Given the description of an element on the screen output the (x, y) to click on. 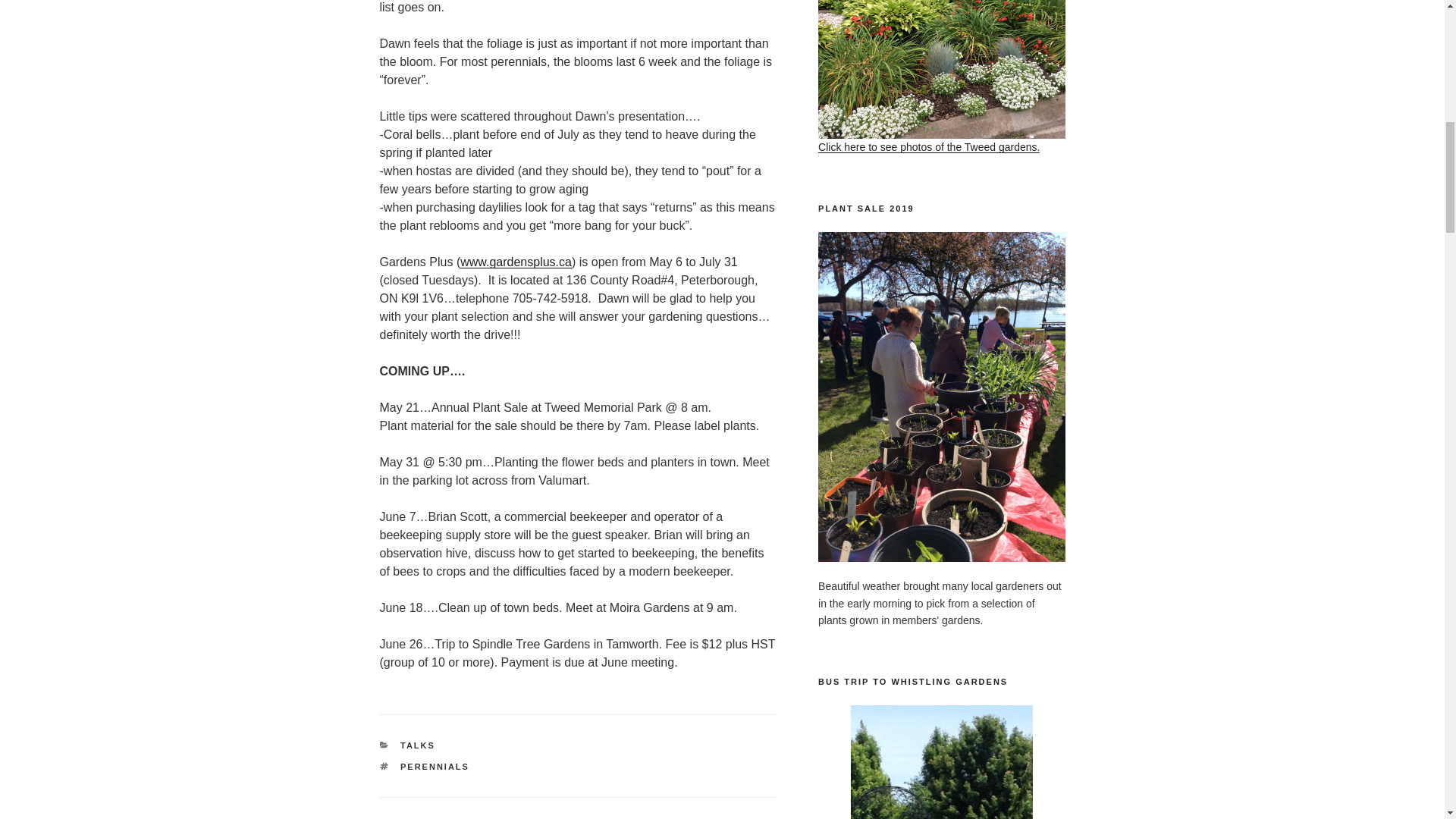
Click here to see photos of the Tweed gardens. (941, 76)
TALKS (417, 745)
www.gardensplus.ca (516, 261)
PERENNIALS (434, 766)
